Given the description of an element on the screen output the (x, y) to click on. 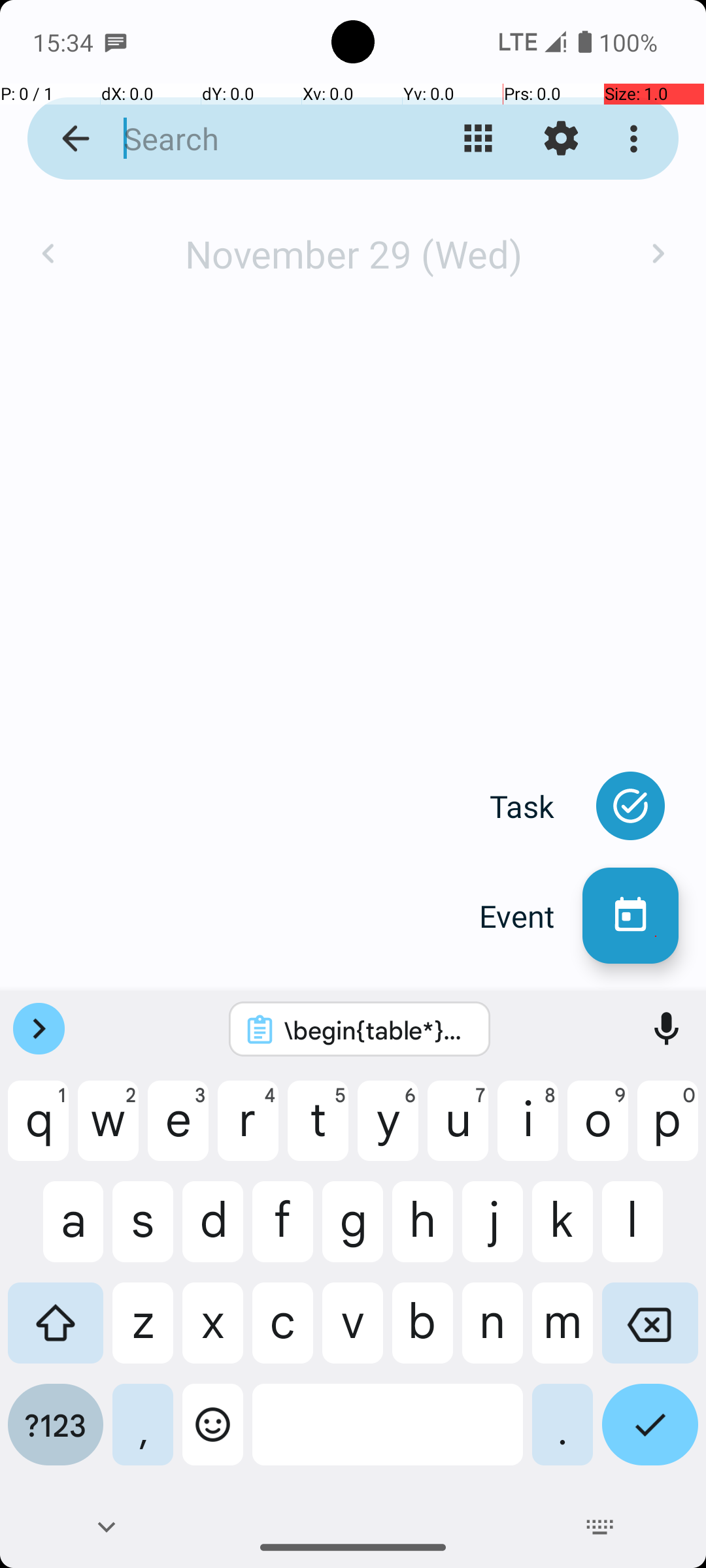
December Element type: android.widget.TextView (352, 239)
November 29 (Wed) Element type: android.widget.TextView (352, 253)
\begin{table*}[t!] \centering \renewcommand\arraystretch{1.1} \tabcolsep=0.05cm {\fontsize{10pt}{12pt}\selectfont \begin{tabular}{cccccccccc} \hline % \toprule          \multirow{2}{*}{LVLMs} & \multirow{2}{*}{\parbox{1.5cm}{\centering Model\\Size}}   & \multirow{2}{*}{\parbox{1.5cm}{\centering GUI\\Specific}} & \multicolumn{2}{c}{Mobile}        & \multicolumn{2}{c}{Desktop}       & \multicolumn{2}{c}{Web}           & \multirow{2}{*}{Average} \\ \cline{4-9}          &    &                               & Text            & Icon/Widget     & Text            & Icon/Widget     & Text            & Icon/Widget     &                          \\  % \midrule \hline MiniGPT-v2     & 7B   & \textcolor{darkred}{\ding{55}}                              &  8.4\%               & 6.6\%                & 6.2\%                & 2.9\%                & 6.5\%                & 3.4\%                & 5.7\%                         \\ Qwen-VL  & 9.6B   & \textcolor{darkred}{\ding{55}}                             & 9.5\%           & 4.8\%           & 5.7\%           & 5.0\%           & 3.5\%           & 2.4\%           & 5.2\%                    \\  GPT-4V   & -    & \textcolor{darkred}{\ding{55}}     & 22.6\%    & 24.5\%    & 20.2\%    & 11.8\%    &9.2\%  & 8.8\%     & 16.2\% \\ \hline Fuyu     & 8B   & \textcolor{darkgreen}{\ding{51}}                               & 41.0\%          & 1.3\%           & 33.0\%          & 3.6\%           & 33.9\%          & 4.4\%           & 19.5\%                   \\ CogAgent & 18B   & \textcolor{darkgreen}{\ding{51}}                               & 67.0\%          & 24.0\%          & \textbf{74.2\%} & 20.0\%          & \textbf{70.4\%} & 28.6\% & 47.4\%                   \\ \seek & 9.6B   & \textcolor{darkgreen}{\ding{51}}                              & \textbf{78.0\%} & \textbf{52.0\%} & 72.2\%          & \textbf{30.0\%} & 55.7\%          & \textbf{32.5\%} & \textbf{53.4\%}          \\  \hline % \bottomrule \end{tabular} } \caption{Results of different LVLMs on \seesp. The best results in each column are highlighted in \textbf{bold}. Benefiting from efficient GUI grounding pre-training, \seek significantly enhanced LVLMs' ability to locate GUI elements following instructions, and surpassed the strong baseline CogAgent with a smaller model size.} \label{tab:screenspot} \vspace{-1.0em} \end{table*} Element type: android.widget.TextView (376, 1029)
